Given the description of an element on the screen output the (x, y) to click on. 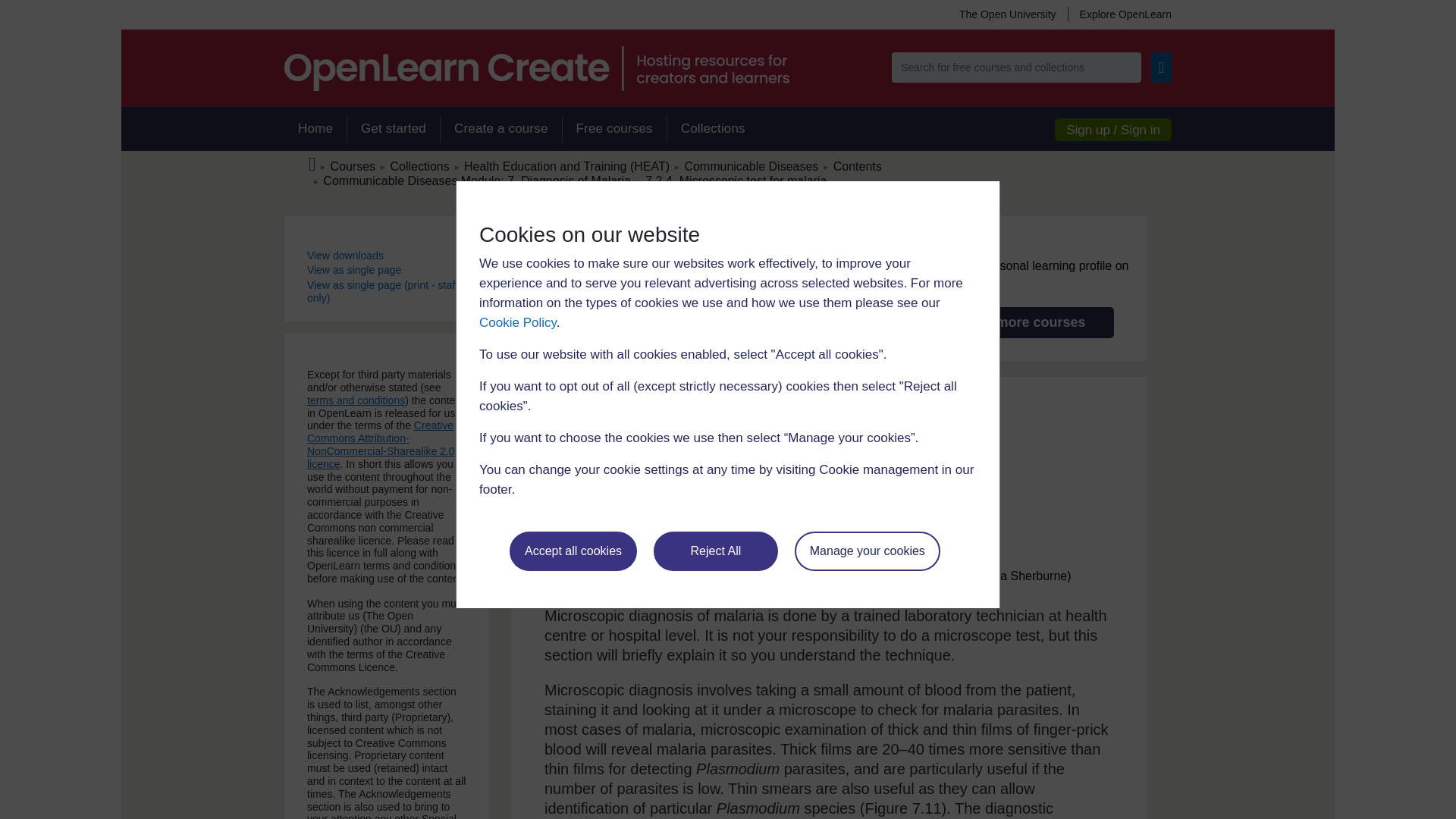
Create a course (500, 128)
Collections (712, 128)
Explore OpenLearn (1119, 14)
Explore OpenLearn (1119, 14)
Get started (392, 128)
SC Web Editor (476, 180)
Free courses (614, 128)
OpenLearn Create (536, 67)
The Open University (1007, 14)
Accept all cookies (573, 550)
Manage your cookies (867, 550)
Cookie Policy (517, 322)
Search (1161, 67)
Home (314, 128)
Search (1161, 67)
